Given the description of an element on the screen output the (x, y) to click on. 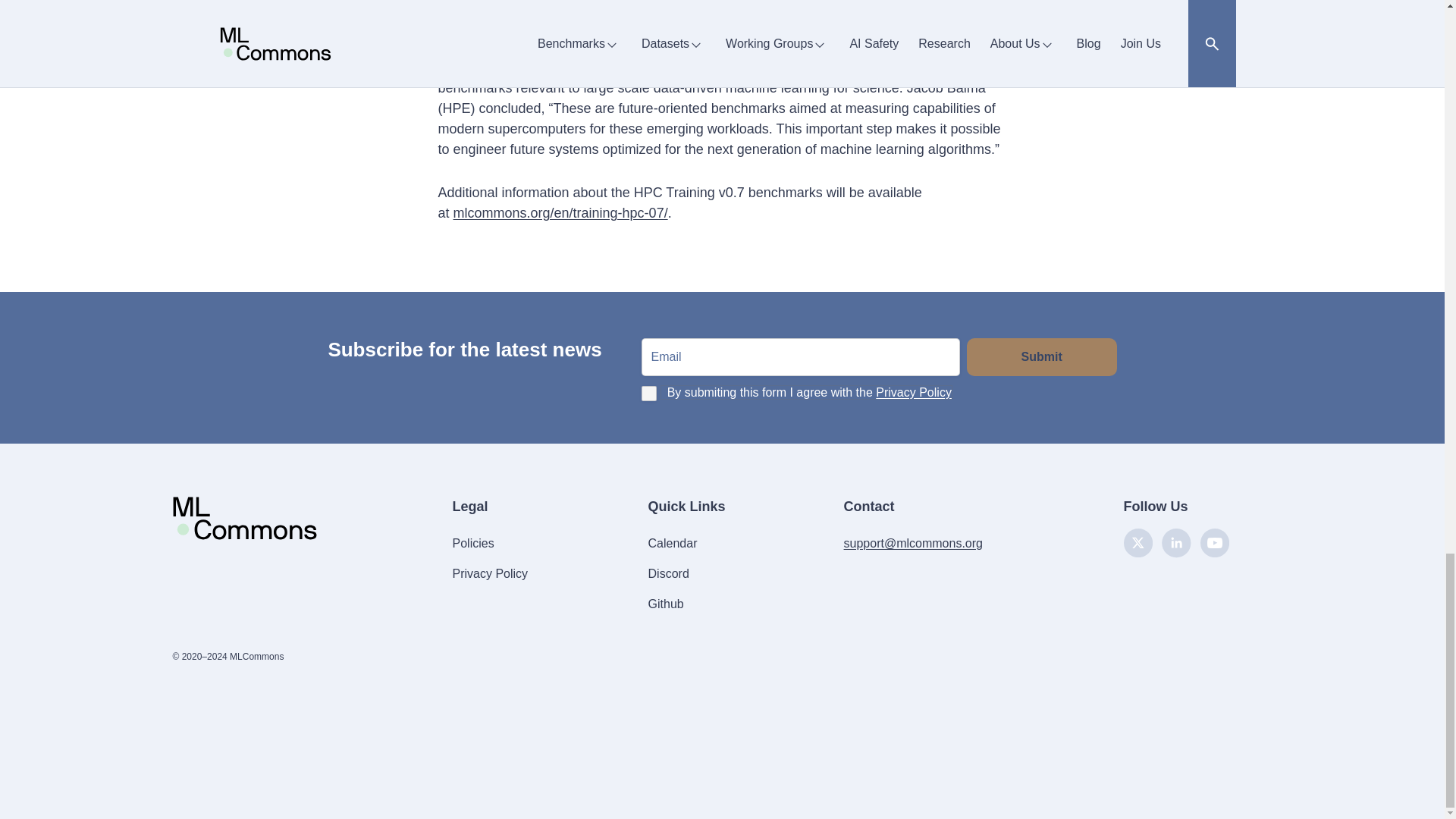
1 (649, 393)
Submit (1041, 356)
